Given the description of an element on the screen output the (x, y) to click on. 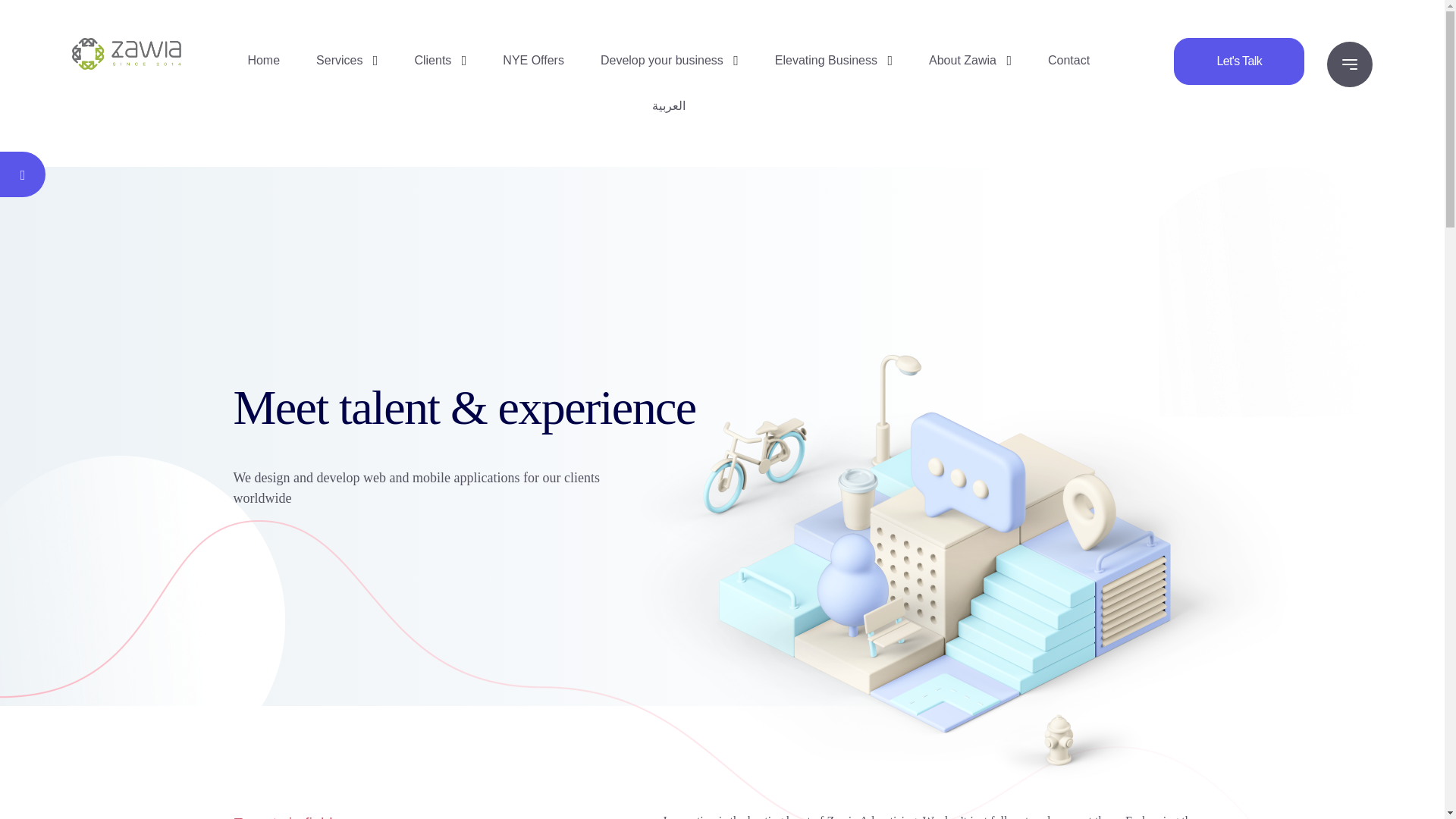
Develop your business (661, 60)
NYE Offers (533, 60)
Elevating Business (825, 60)
Dark Mode (22, 173)
Services (338, 60)
